Given the description of an element on the screen output the (x, y) to click on. 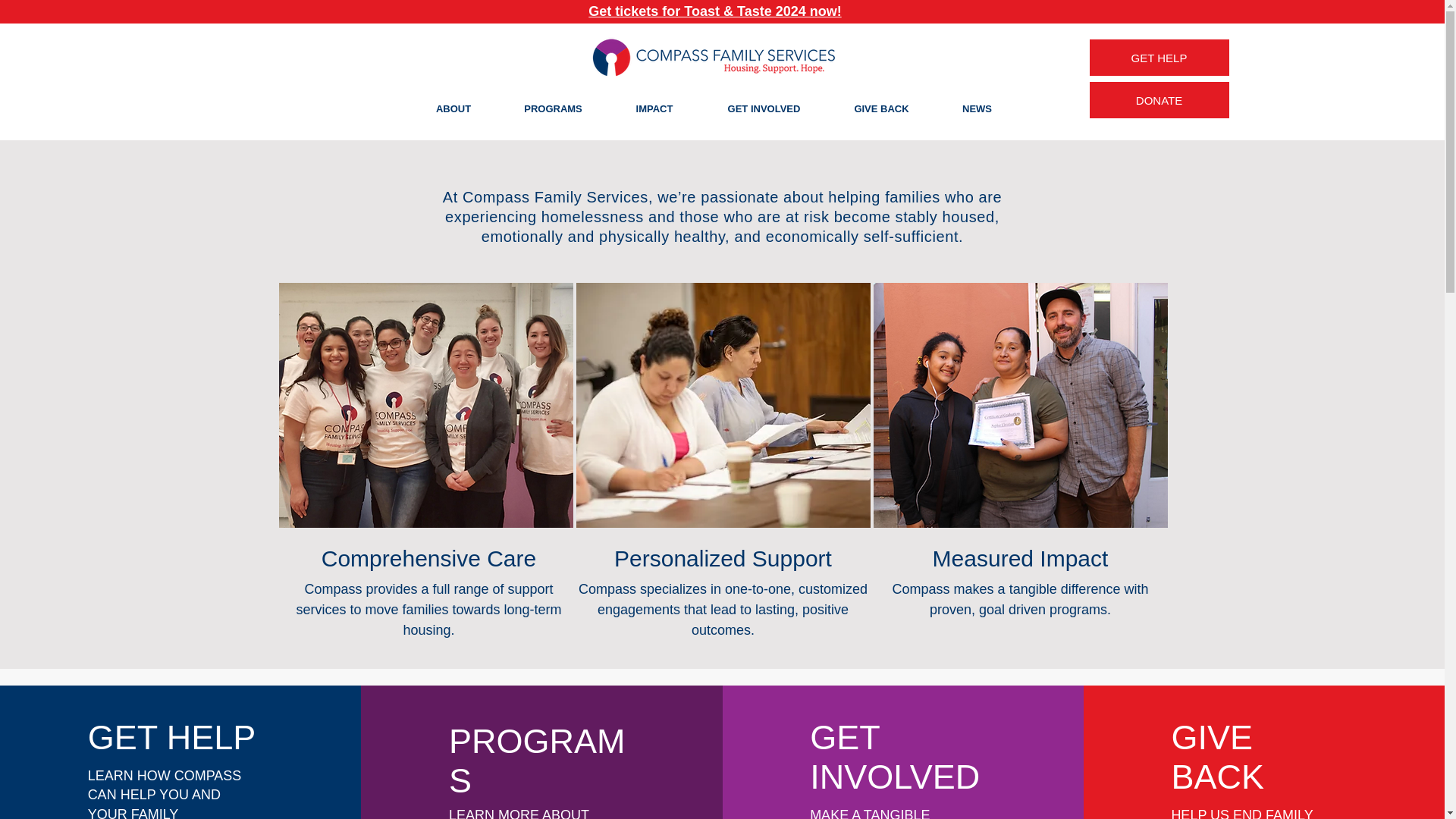
IMPACT (654, 108)
PROGRAMS (552, 108)
ABOUT (453, 108)
GET INVOLVED (764, 108)
GIVE BACK (882, 108)
